Given the description of an element on the screen output the (x, y) to click on. 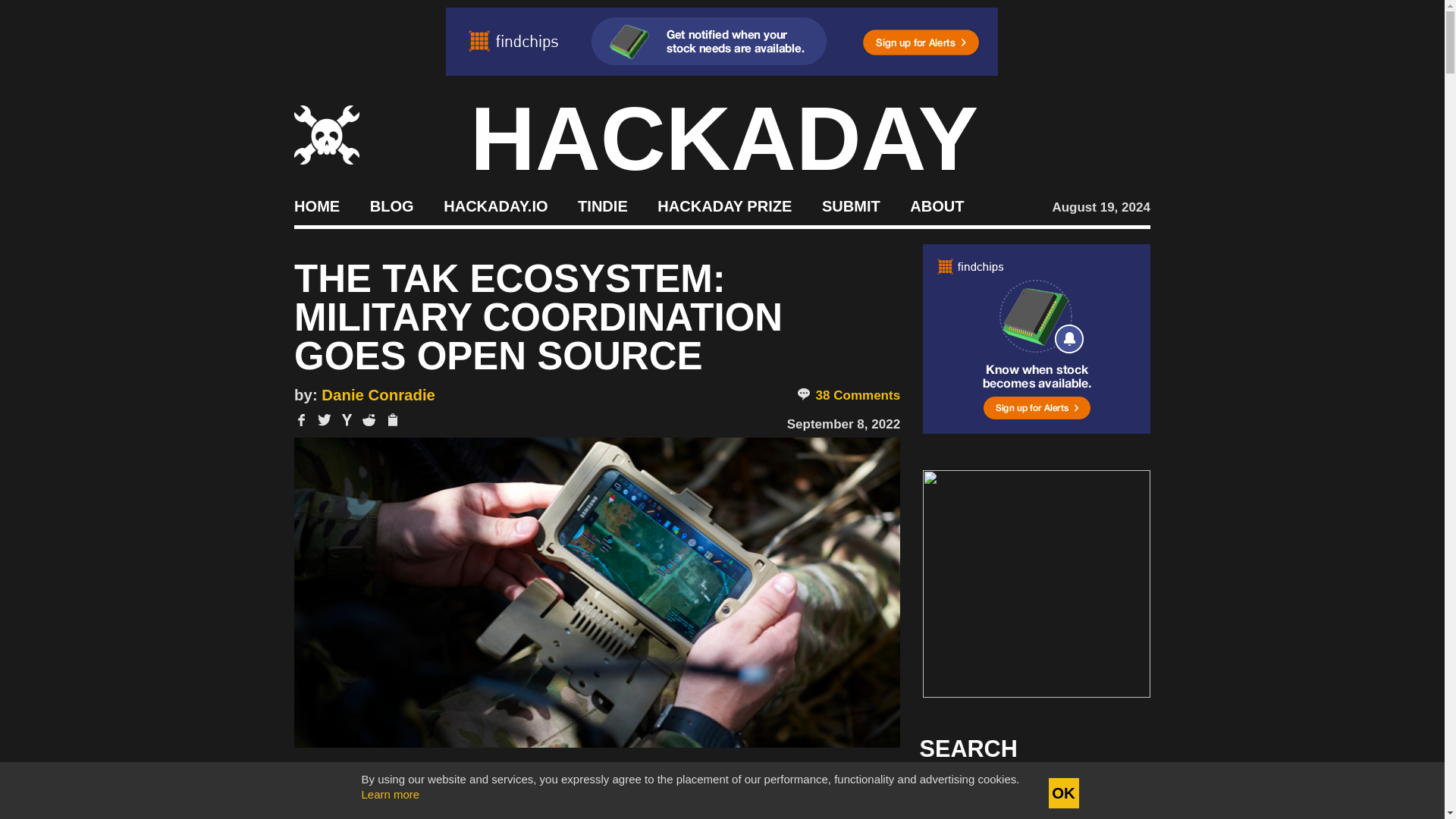
TINDIE (602, 205)
Share on Twitter (324, 420)
Search (1115, 792)
HACKADAY (724, 138)
Share on Reddit (369, 420)
Build Something that Matters (725, 205)
HOME (316, 205)
BLOG (391, 205)
ABOUT (936, 205)
38 Comments (847, 395)
